Given the description of an element on the screen output the (x, y) to click on. 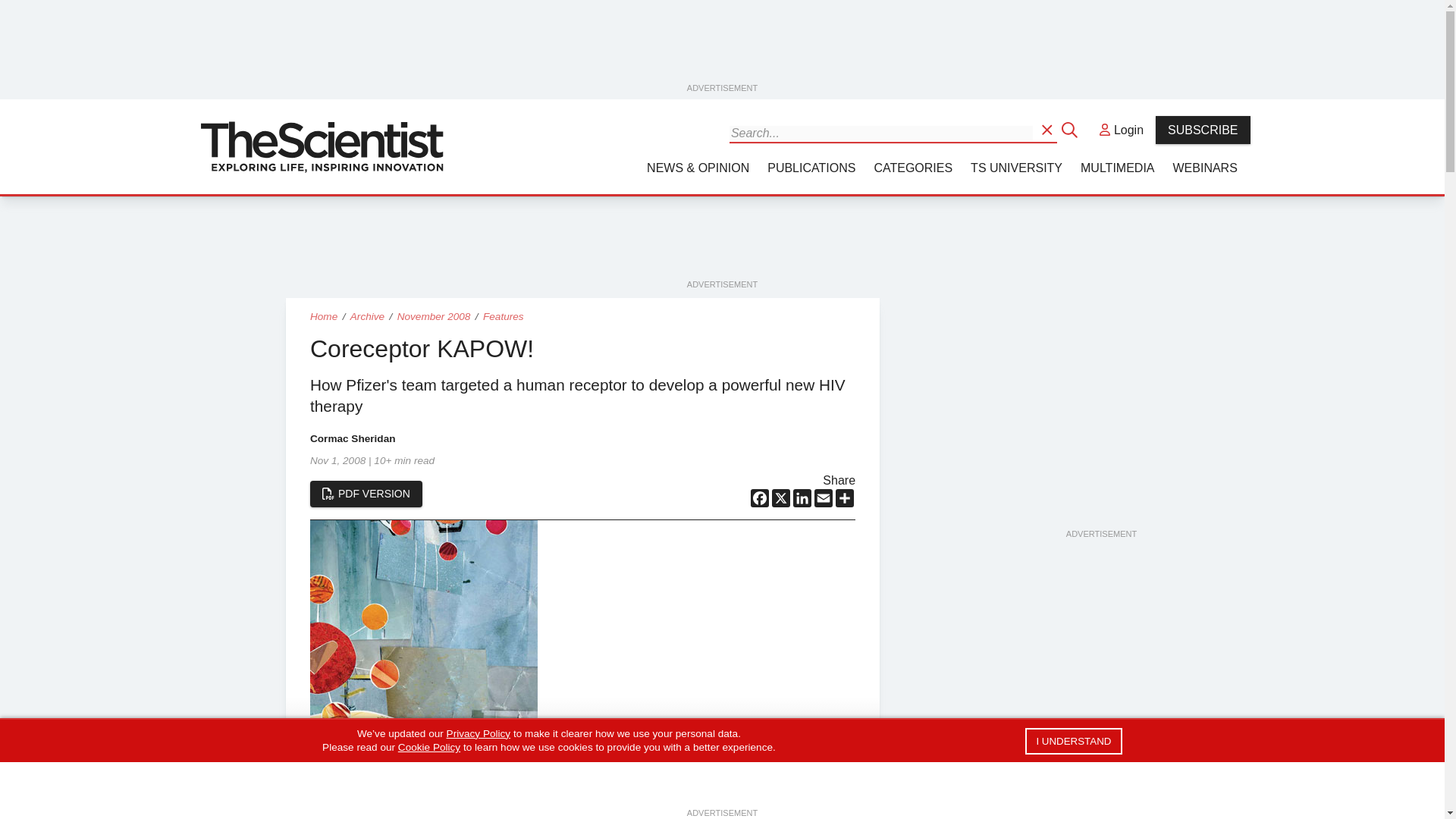
3rd party ad content (722, 46)
3rd party ad content (722, 242)
Open Search (1049, 129)
Close Search (1071, 129)
3rd party ad content (1100, 432)
3rd party ad content (1100, 705)
